Given the description of an element on the screen output the (x, y) to click on. 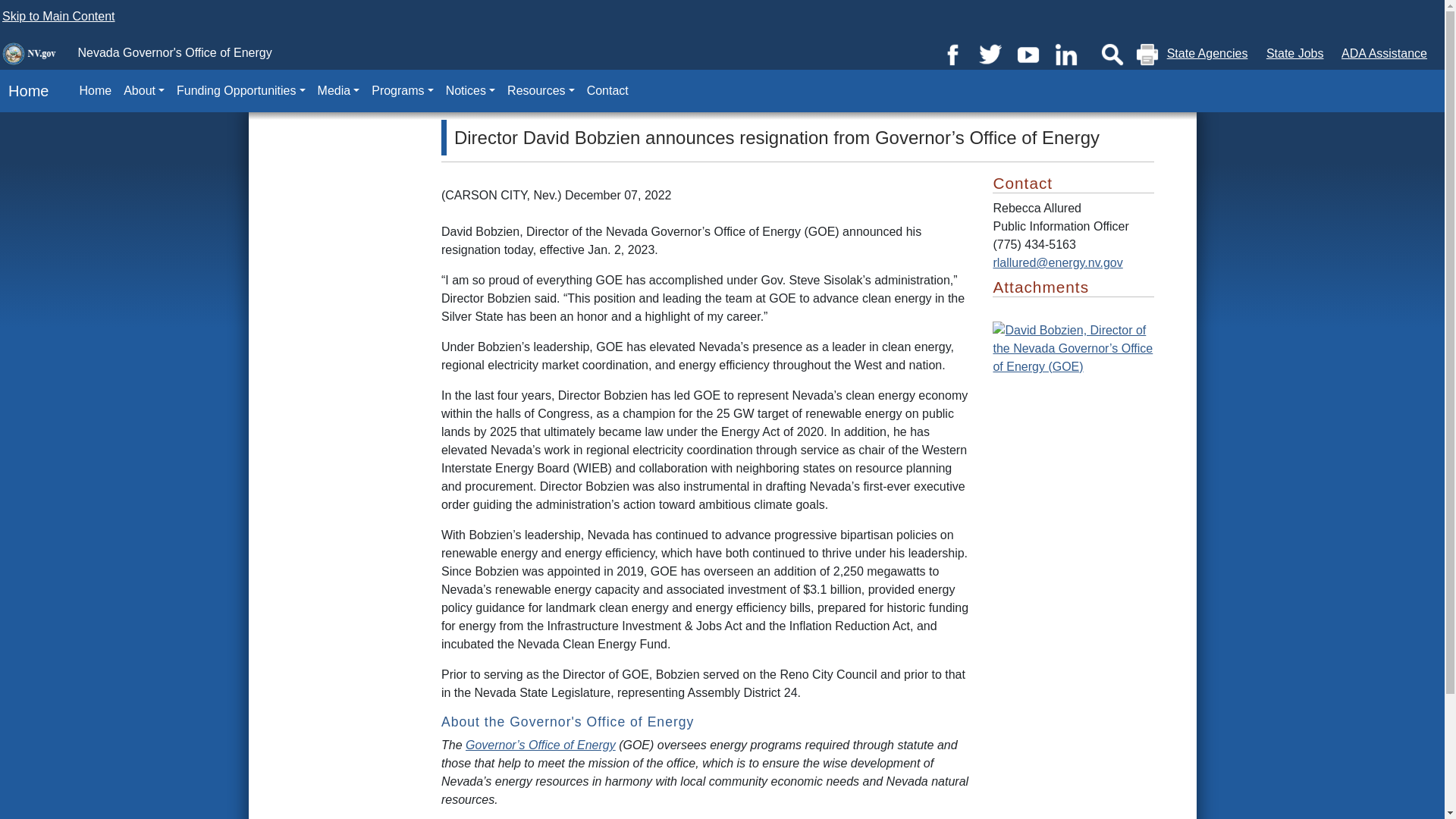
State Jobs (1294, 52)
ADA Assistance (1383, 52)
Programs (402, 91)
About (143, 91)
Print (1147, 54)
YouTube (1027, 52)
Search (1112, 54)
linkedin (1065, 52)
Skip to Main Content (58, 15)
Home (94, 91)
Twitter (989, 52)
Americans With Disabilities Act (1383, 52)
Media (338, 91)
  Home (24, 90)
State Agencies (1207, 52)
